Given the description of an element on the screen output the (x, y) to click on. 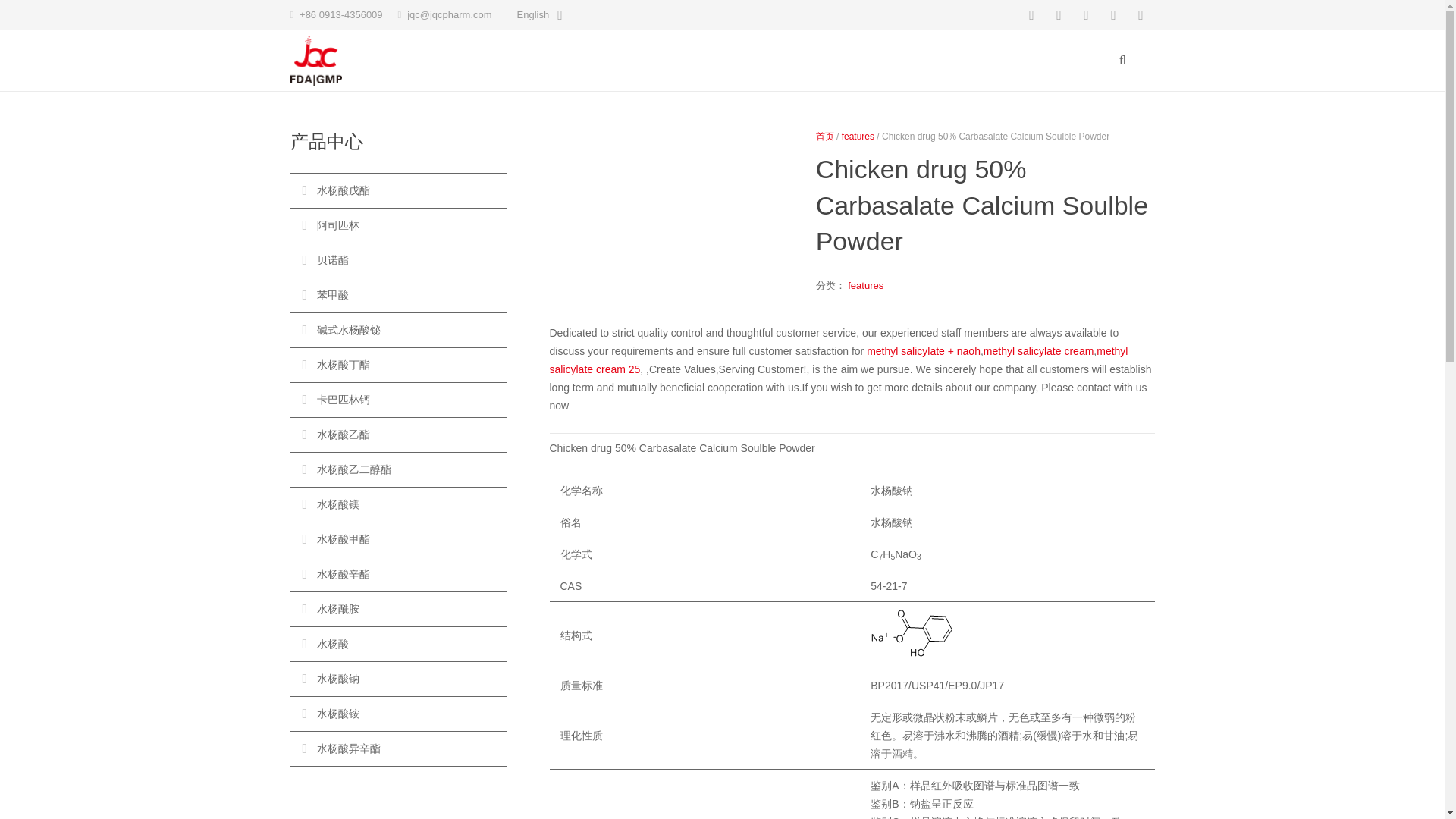
methyl salicylate cream (1039, 350)
English (538, 14)
methyl salicylate cream 25 (837, 359)
features (858, 136)
features (865, 285)
